Given the description of an element on the screen output the (x, y) to click on. 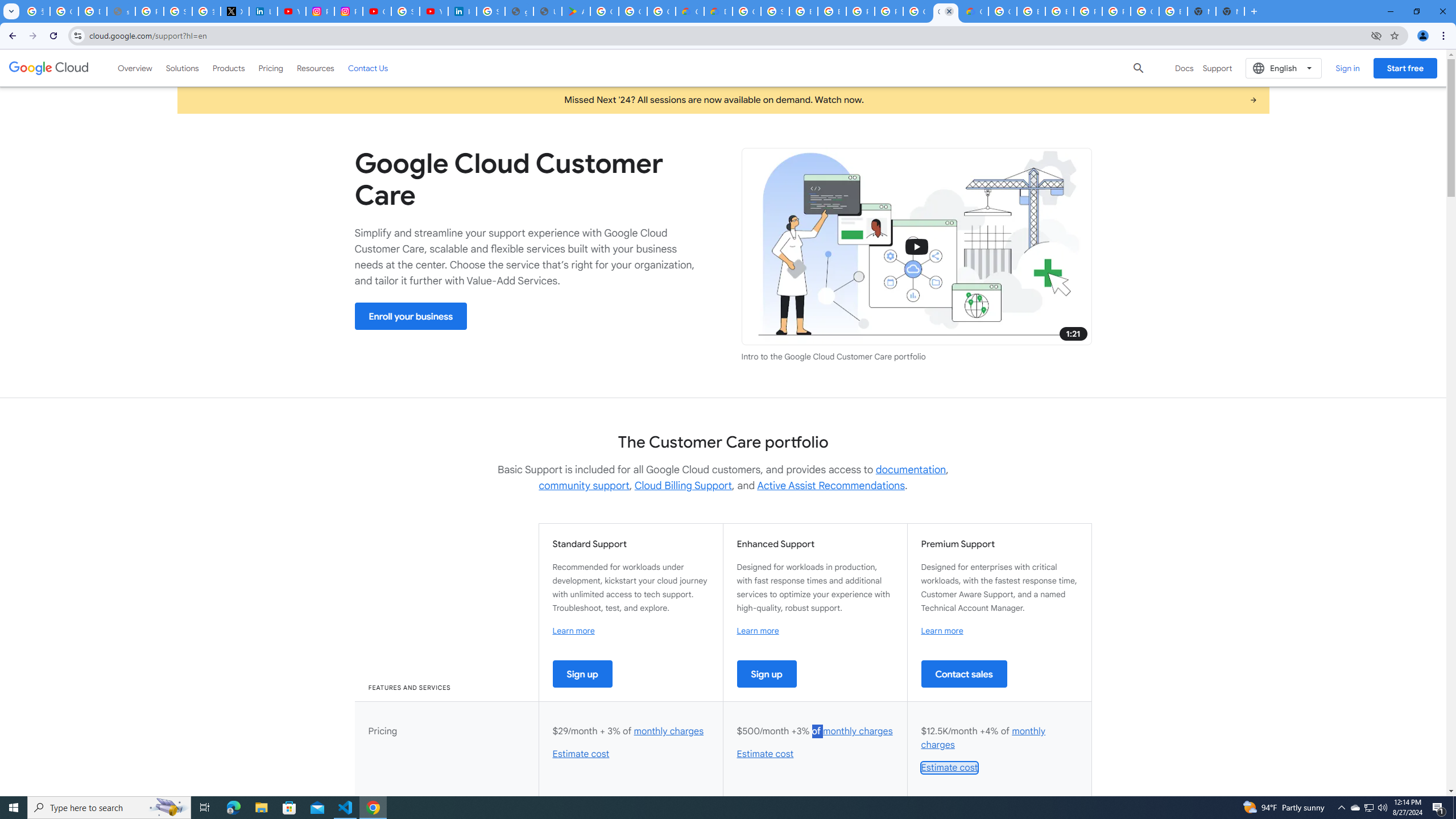
monthly charges (982, 738)
Browse Chrome as a guest - Computer - Google Chrome Help (1030, 11)
Products (228, 67)
Learn more (941, 630)
Contact Us (368, 67)
